Given the description of an element on the screen output the (x, y) to click on. 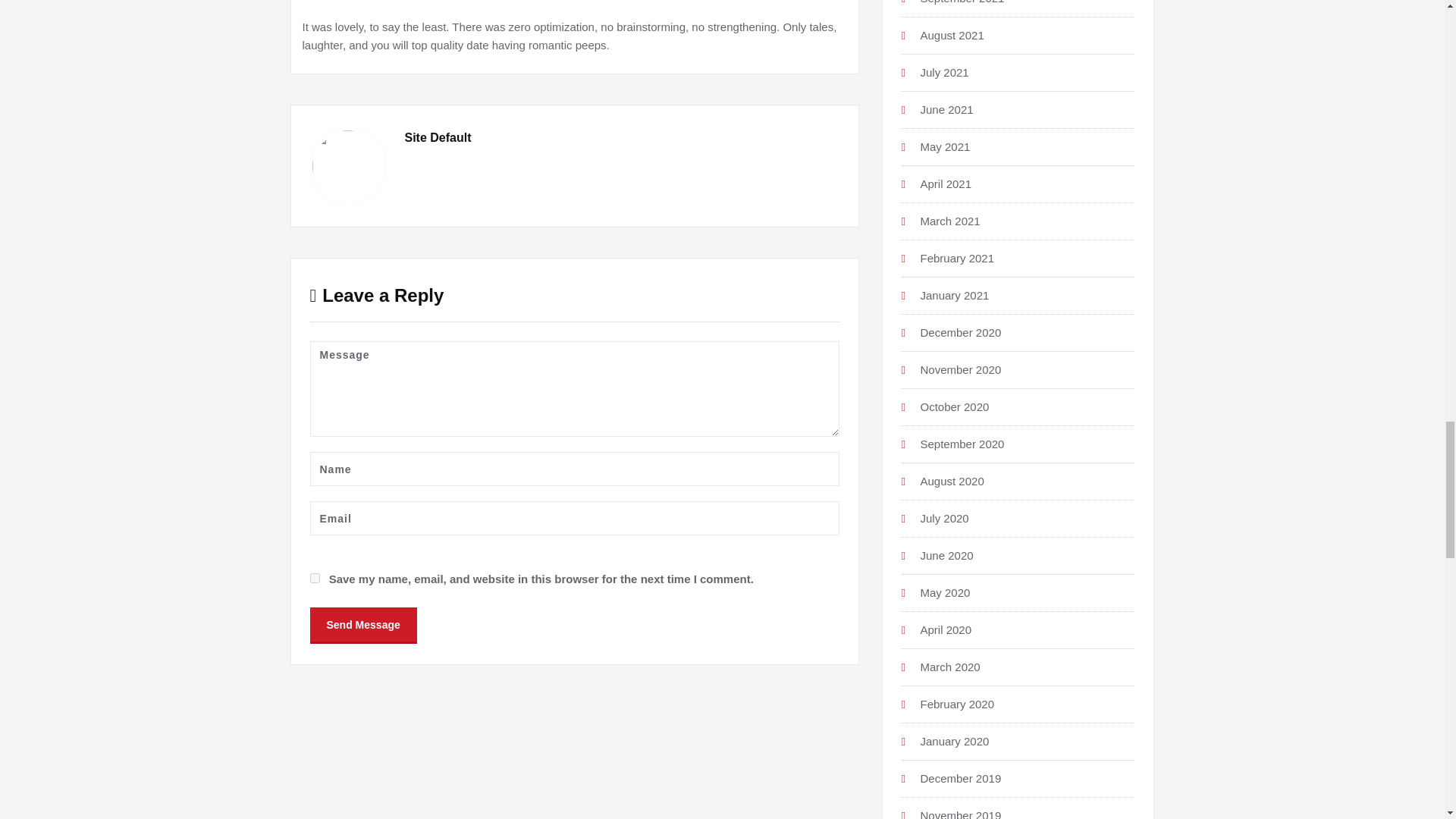
Send Message (362, 623)
Send Message (362, 624)
yes (313, 578)
